Given the description of an element on the screen output the (x, y) to click on. 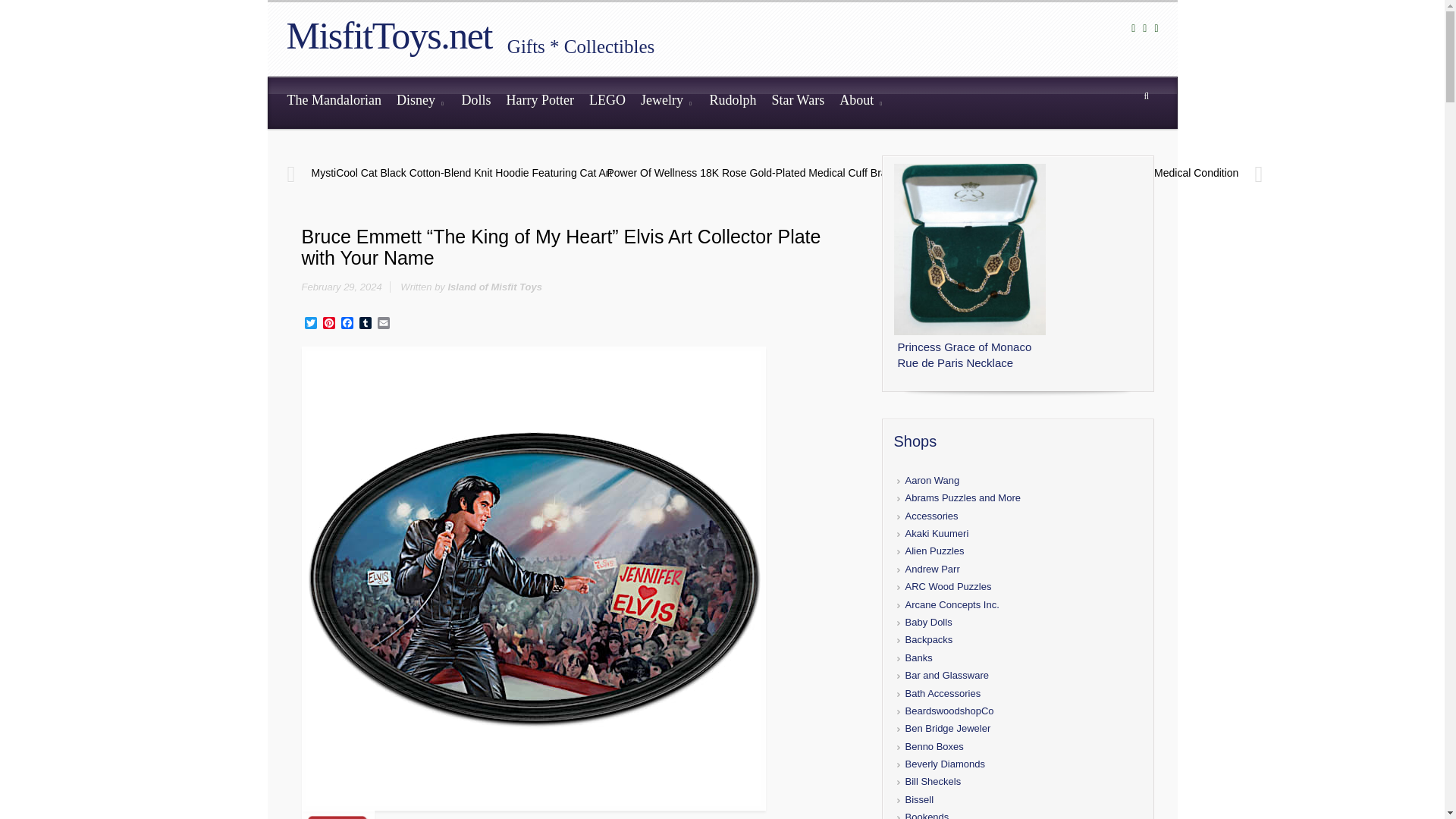
About (861, 101)
About (861, 101)
LEGO (606, 101)
Disney (421, 101)
Disney (421, 101)
The Mandalorian (333, 101)
Star Wars (796, 101)
Jewelry (667, 101)
Harry Potter (538, 101)
View all posts by Island of Misfit Toys (493, 286)
Star Wars (796, 101)
MisfitToys.net (389, 35)
Harry Potter (538, 101)
Jewelry (667, 101)
Rudolph (731, 101)
